Given the description of an element on the screen output the (x, y) to click on. 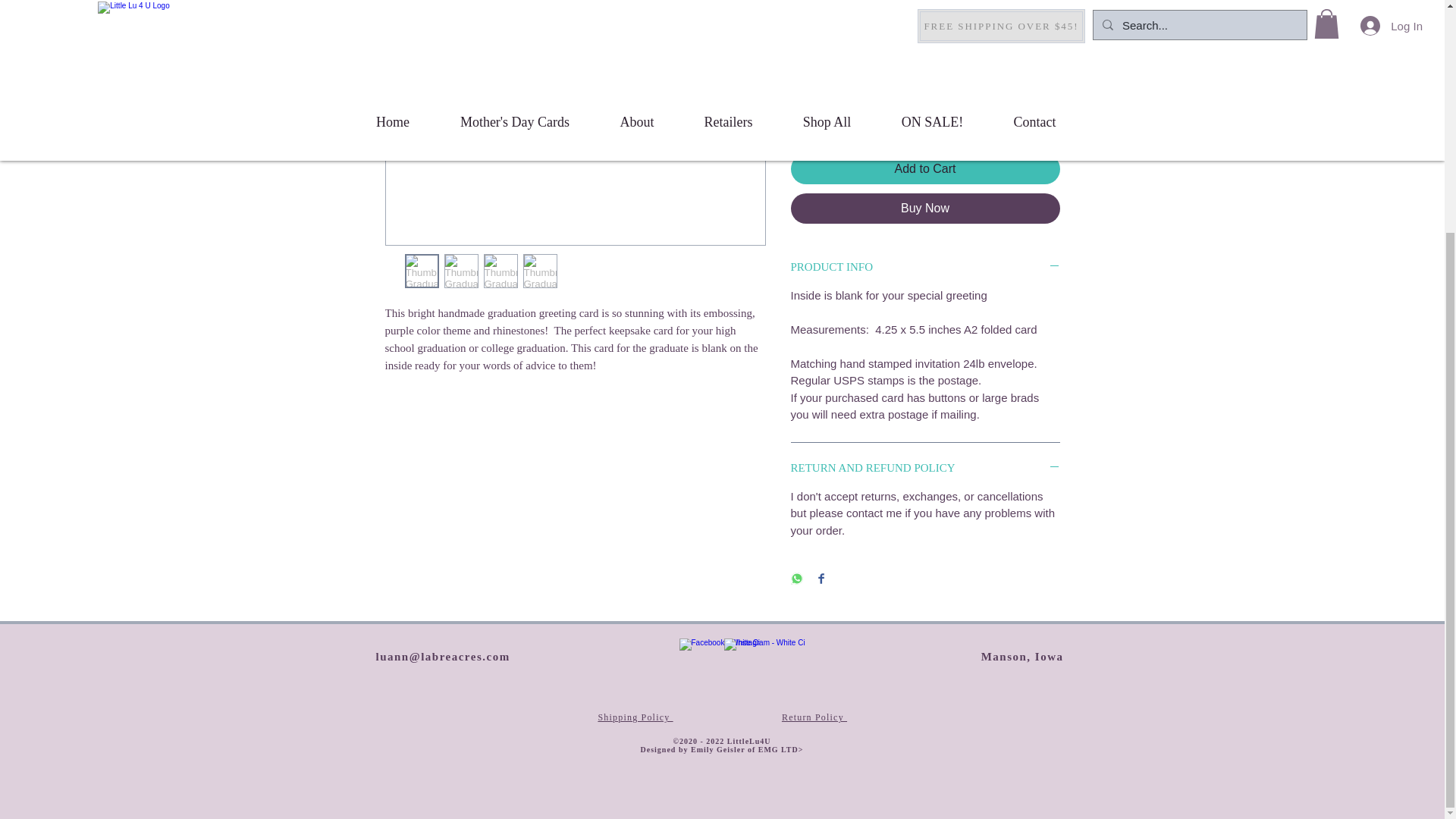
1 (817, 114)
Shipping Policy (949, 45)
Add to Cart (924, 168)
